Given the description of an element on the screen output the (x, y) to click on. 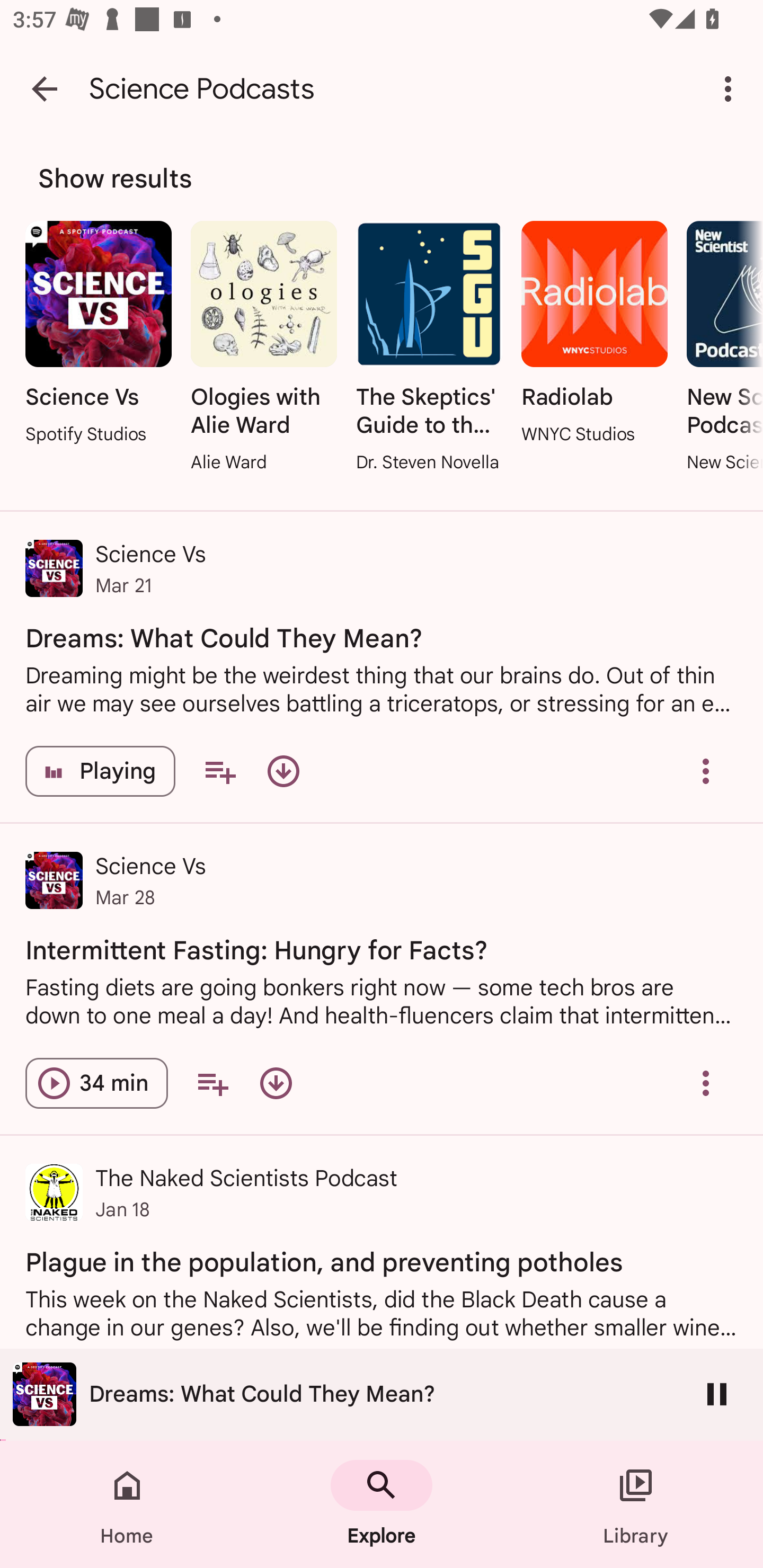
Navigate up Science Podcasts More options (381, 88)
Navigate up (44, 88)
More options (731, 88)
Science Vs Science Vs Spotify Studios (98, 333)
Radiolab Radiolab WNYC Studios (594, 333)
Add to your queue (219, 771)
Download episode (283, 771)
Overflow menu (705, 771)
Add to your queue (212, 1083)
Download episode (275, 1083)
Overflow menu (705, 1083)
Science Vs Dreams: What Could They Mean? Pause 3.0 (381, 1394)
Pause (717, 1394)
Home (127, 1504)
Library (635, 1504)
